Given the description of an element on the screen output the (x, y) to click on. 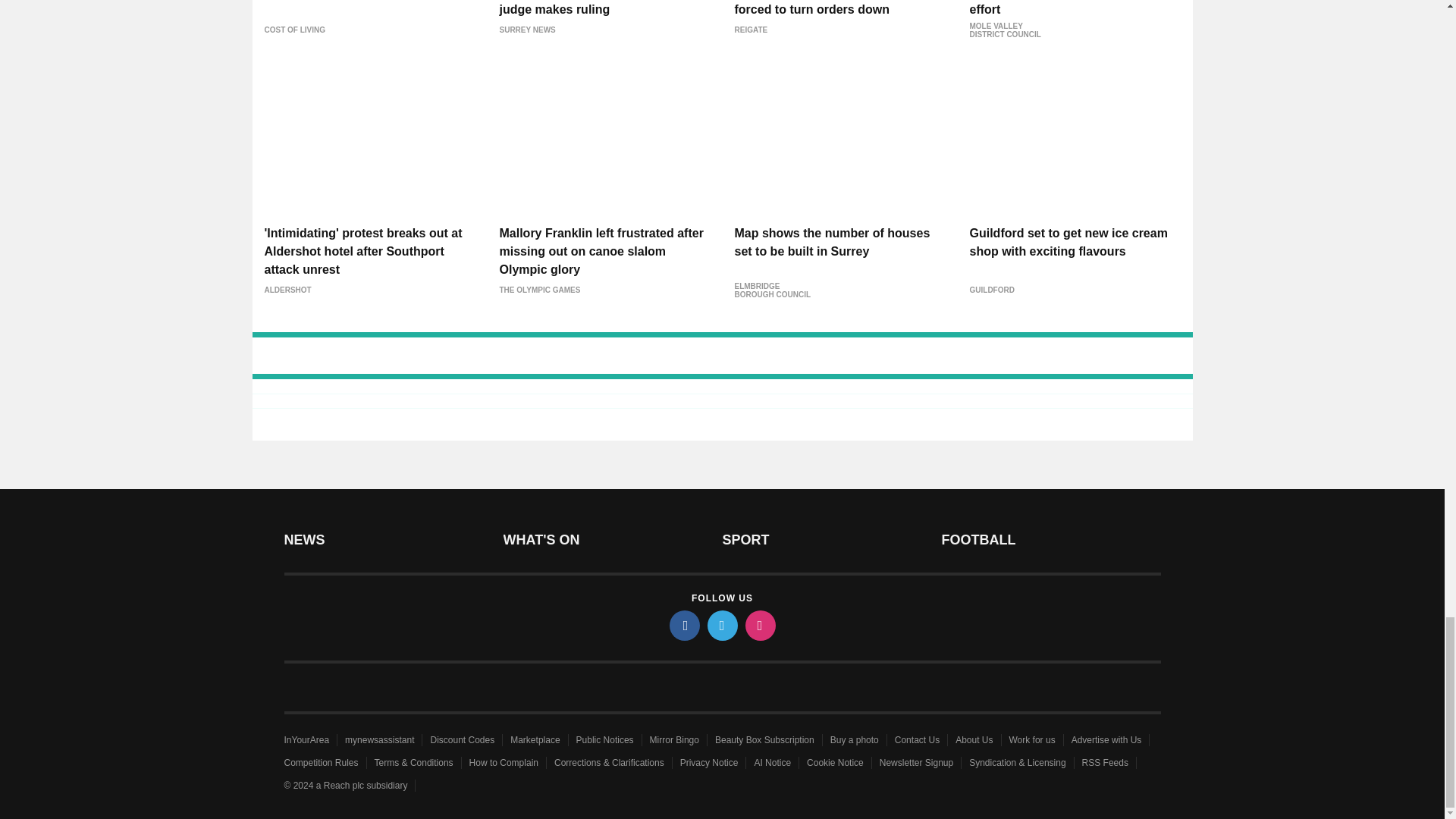
facebook (683, 625)
twitter (721, 625)
instagram (759, 625)
